Given the description of an element on the screen output the (x, y) to click on. 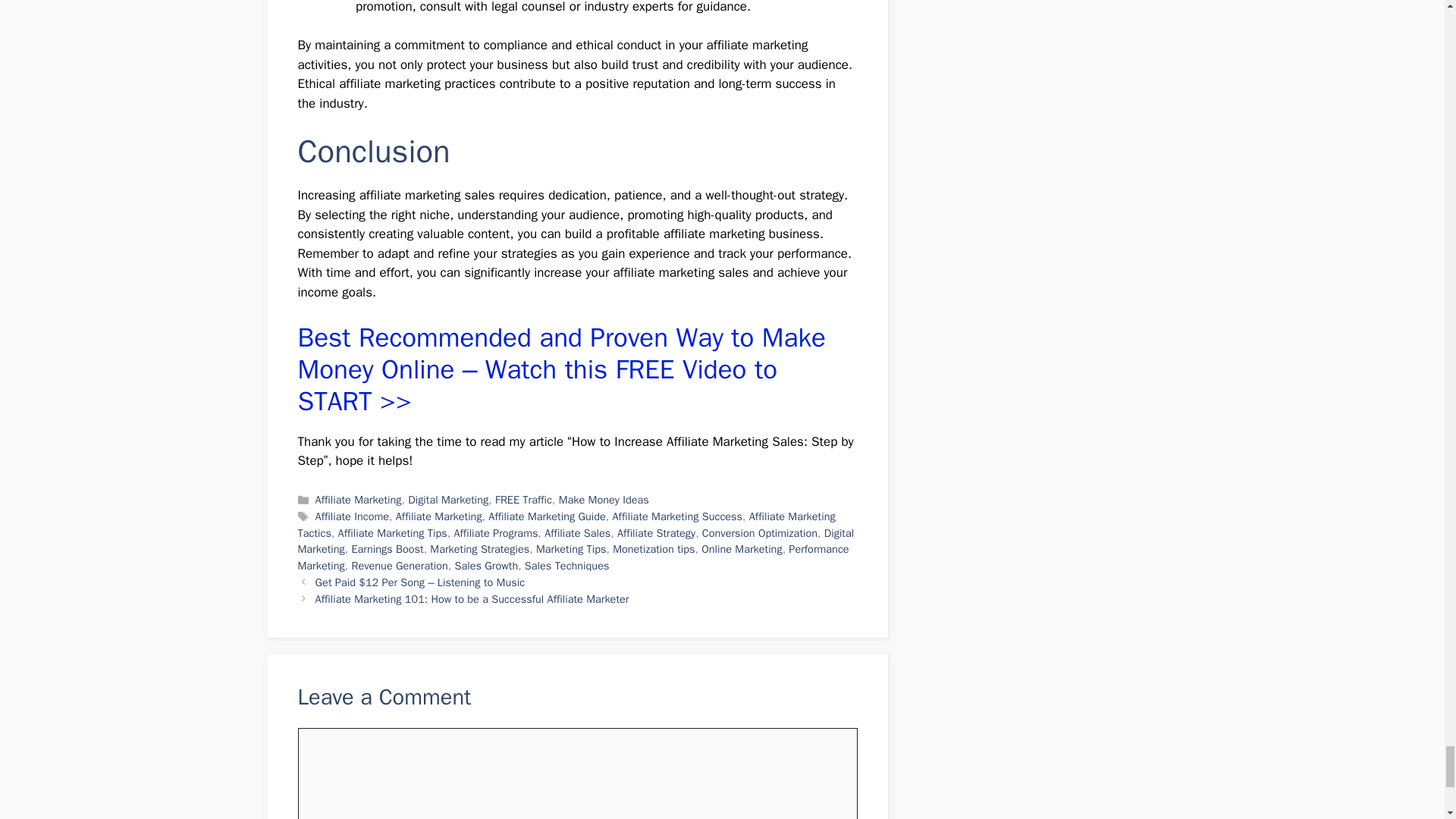
Affiliate Sales (577, 532)
Affiliate Programs (494, 532)
Affiliate Income (351, 516)
Digital Marketing (447, 499)
Affiliate Marketing Tactics (565, 524)
Affiliate Marketing Guide (546, 516)
Affiliate Marketing (358, 499)
Affiliate Strategy (656, 532)
Affiliate Marketing Tips (391, 532)
Make Money Ideas (604, 499)
